Given the description of an element on the screen output the (x, y) to click on. 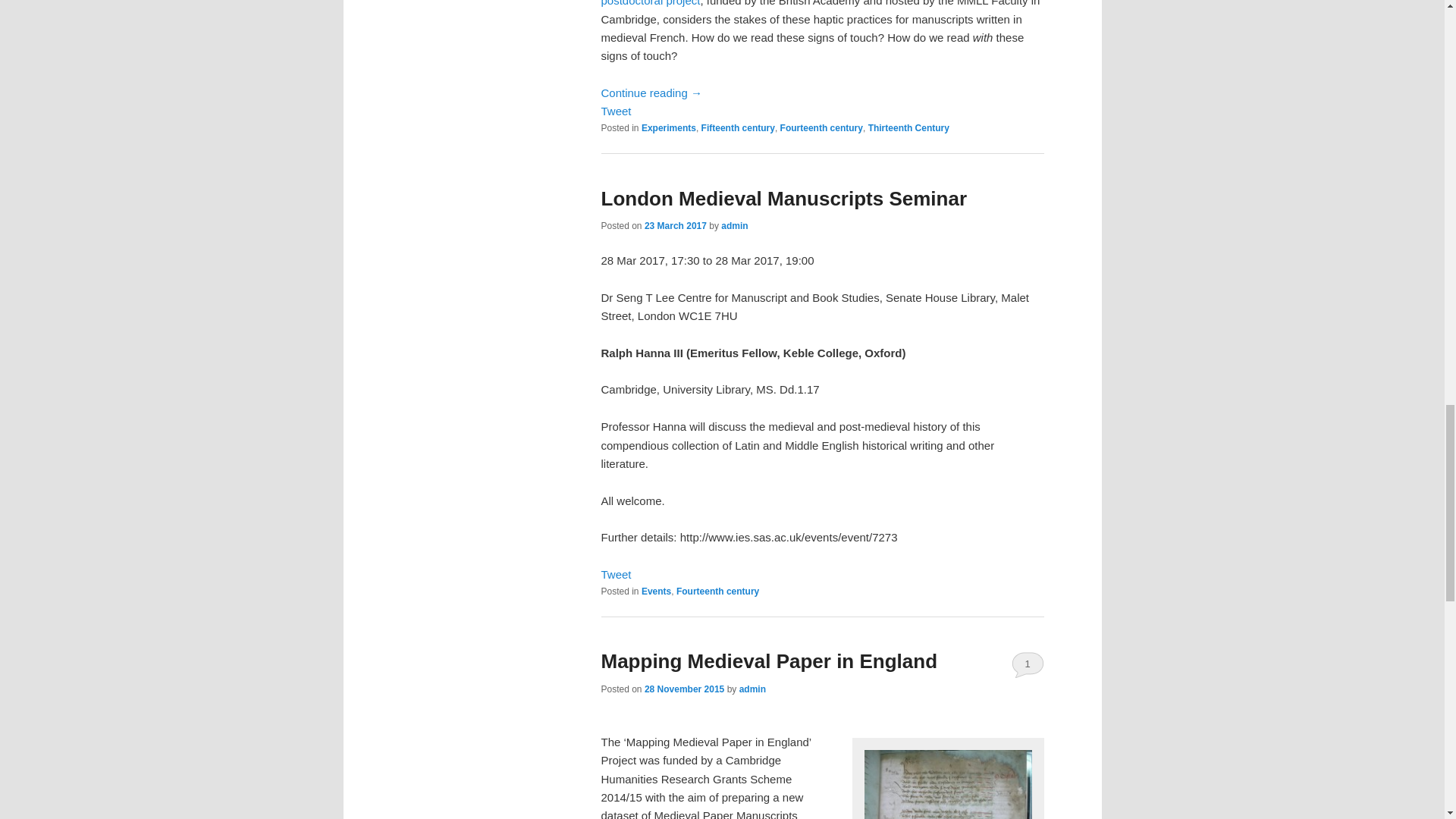
Tweet (614, 110)
Thirteenth Century (908, 127)
Fourteenth century (821, 127)
28 November 2015 (684, 688)
Fourteenth century (717, 590)
Events (656, 590)
Fifteenth century (737, 127)
admin (734, 225)
23 March 2017 (675, 225)
postdoctoral project (649, 3)
